Given the description of an element on the screen output the (x, y) to click on. 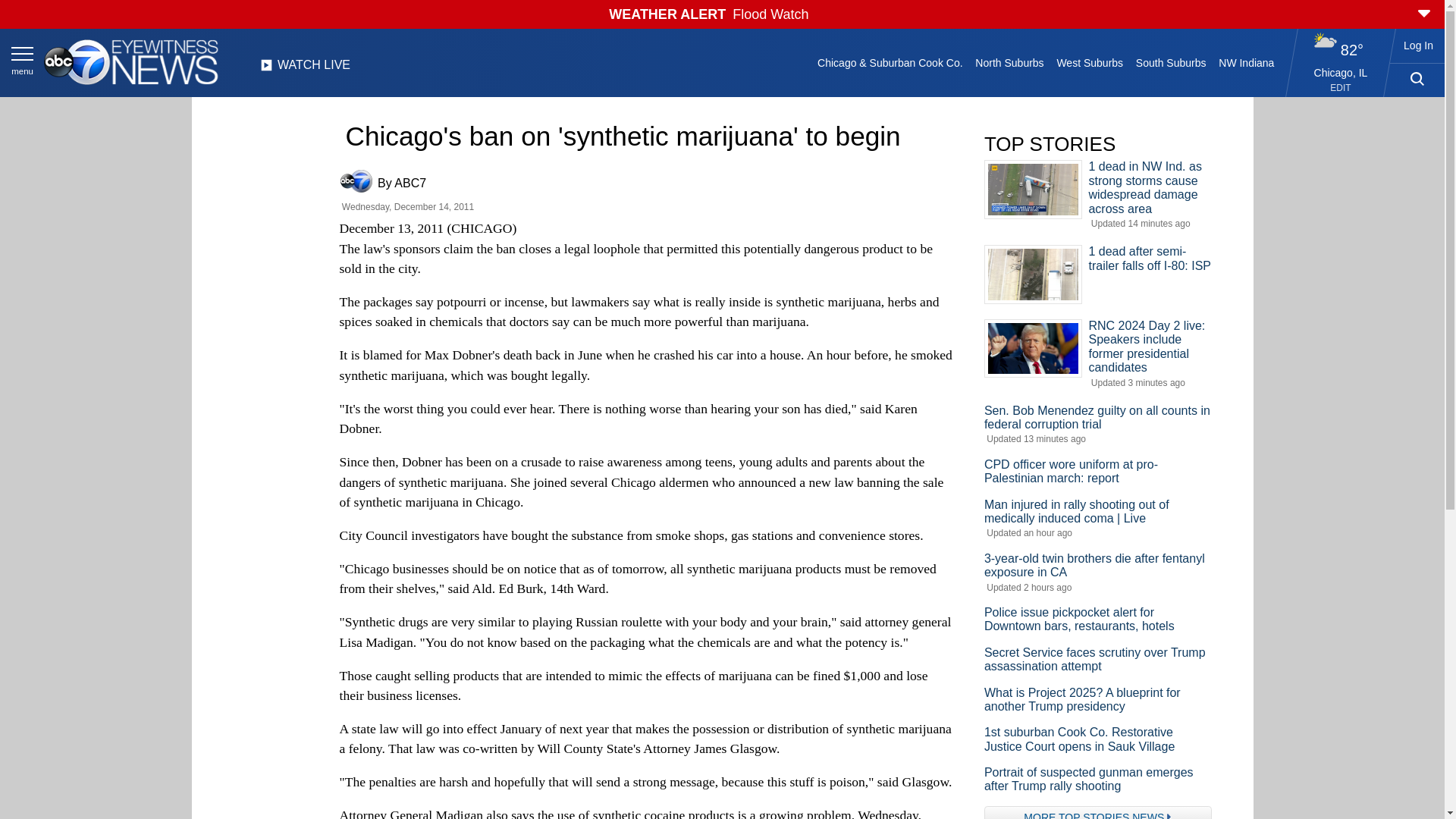
EDIT (1340, 87)
North Suburbs (1009, 62)
WATCH LIVE (305, 69)
West Suburbs (1089, 62)
Chicago, IL (1340, 72)
NW Indiana (1246, 62)
South Suburbs (1170, 62)
